Given the description of an element on the screen output the (x, y) to click on. 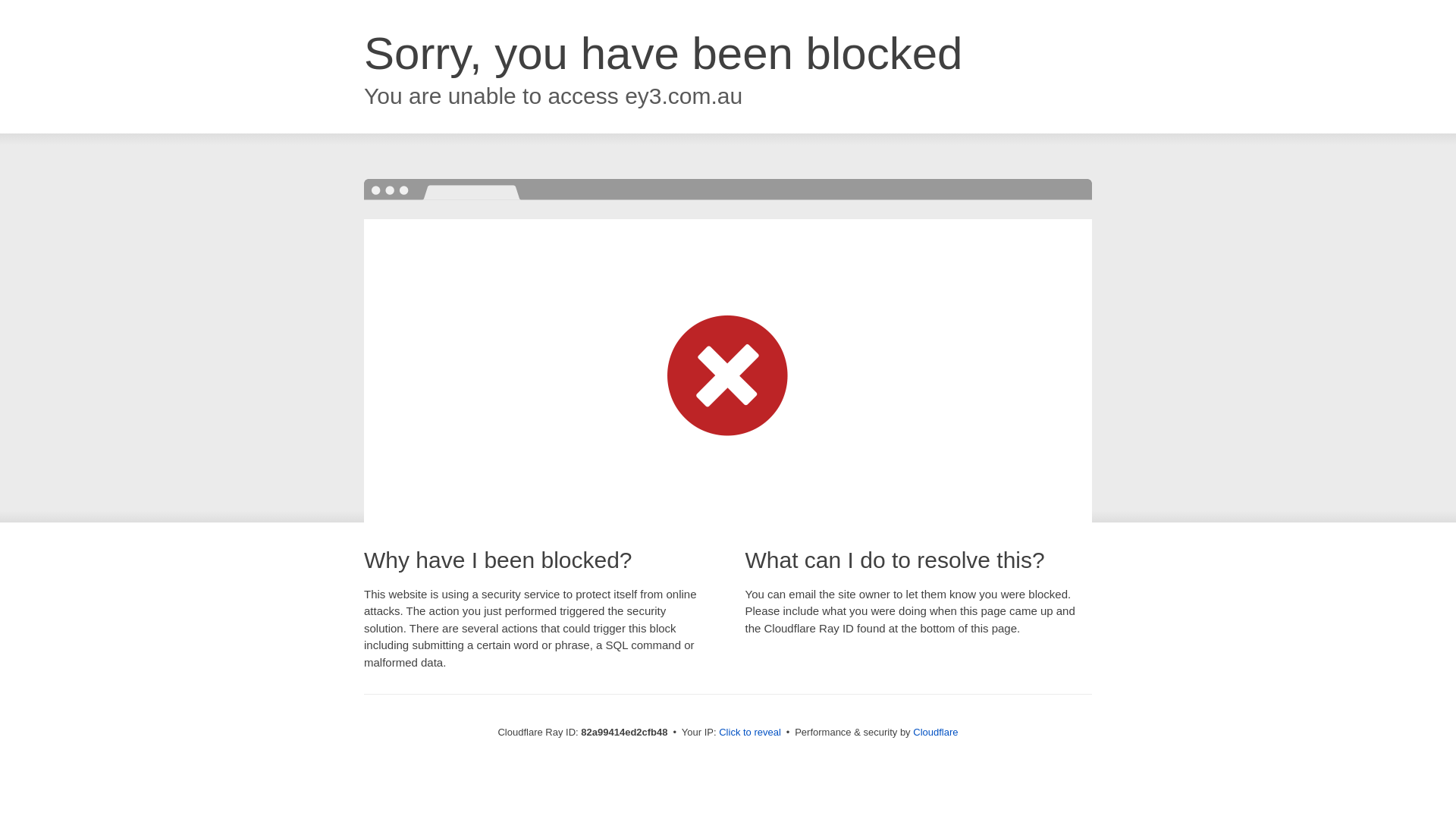
Click to reveal Element type: text (749, 732)
Cloudflare Element type: text (935, 731)
